Given the description of an element on the screen output the (x, y) to click on. 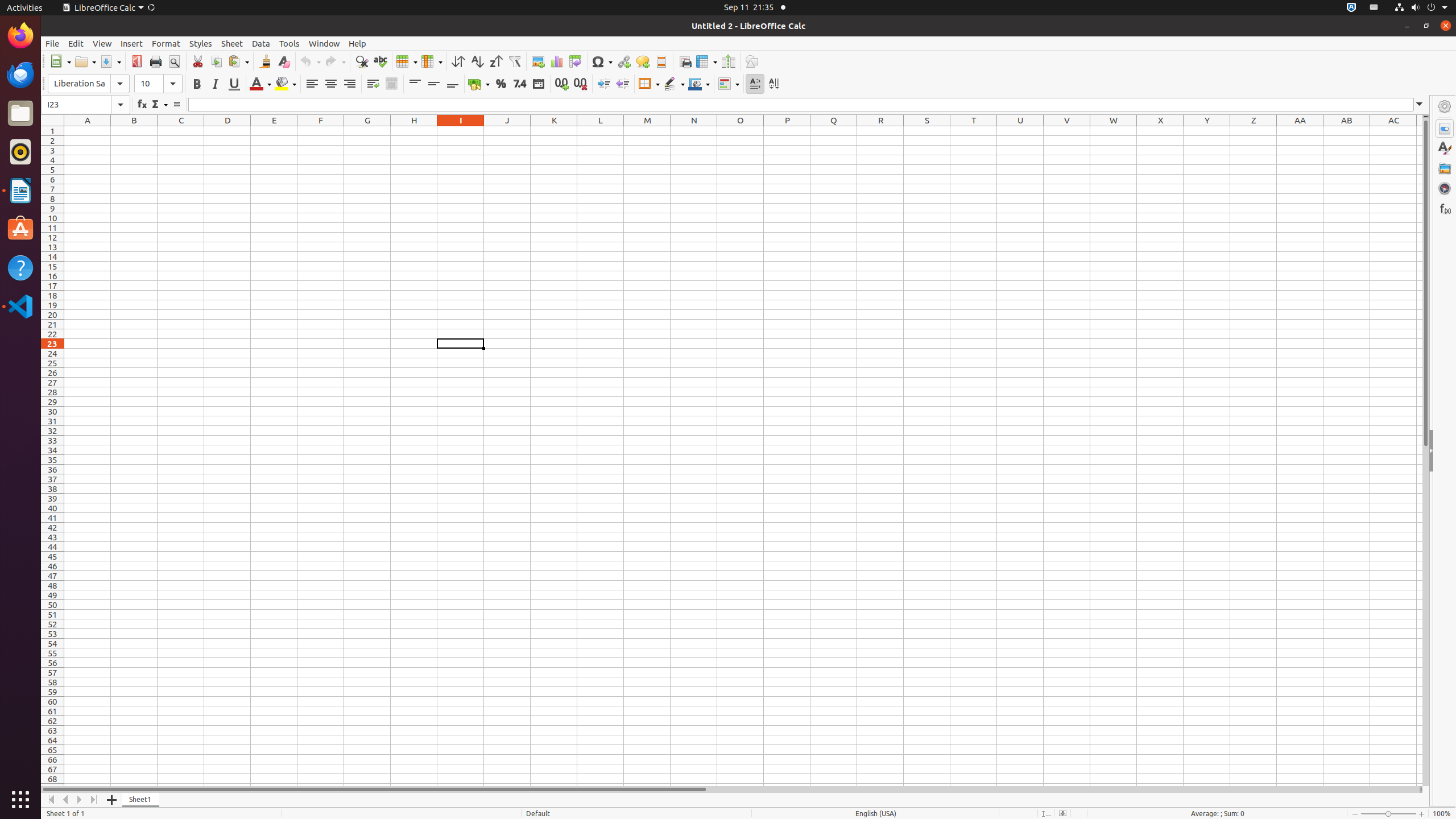
Sheet Element type: menu (231, 43)
Font Name Element type: panel (88, 83)
Function Wizard Element type: push-button (141, 104)
Hyperlink Element type: toggle-button (623, 61)
Horizontal scroll bar Element type: scroll-bar (729, 789)
